Given the description of an element on the screen output the (x, y) to click on. 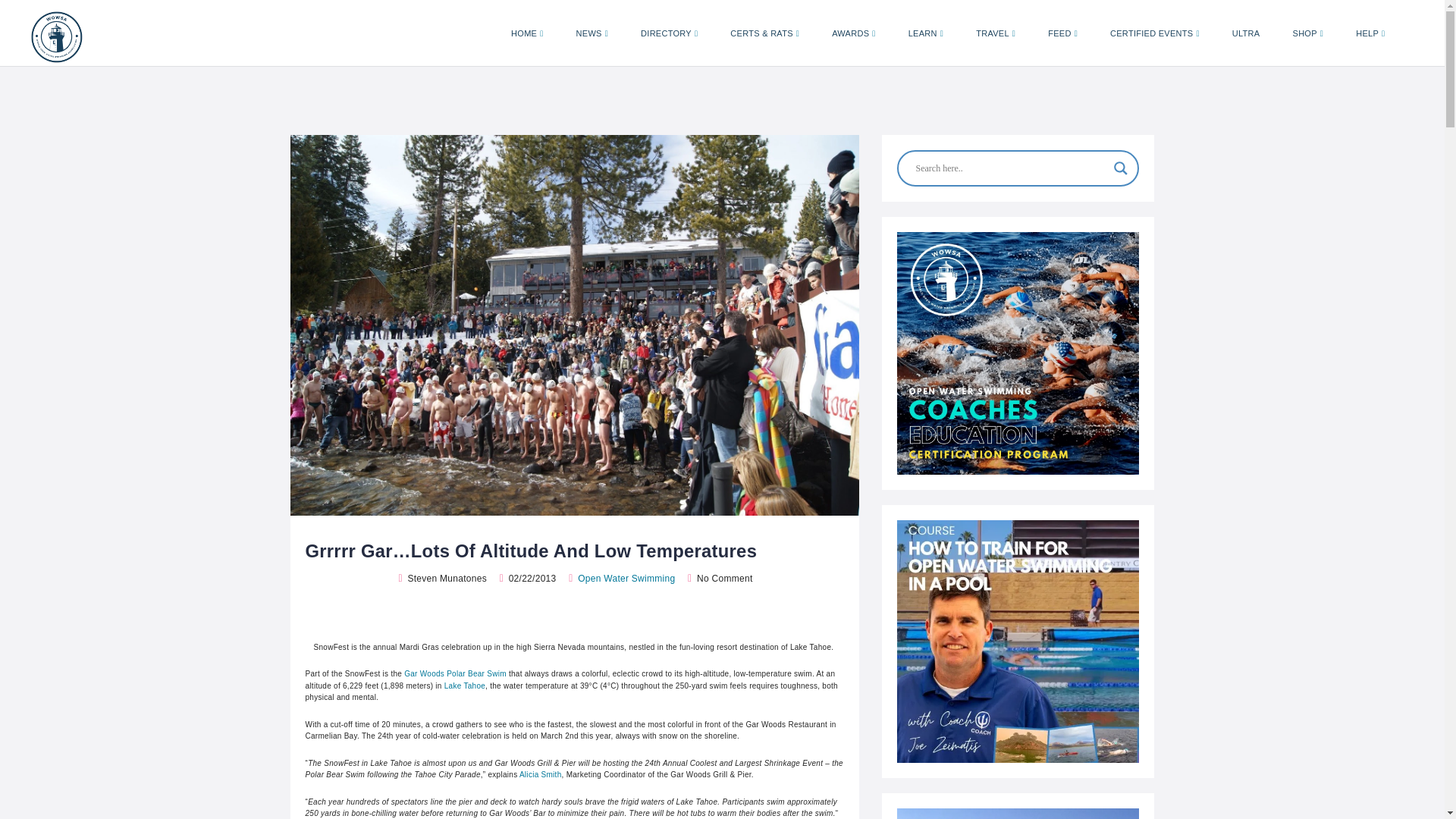
LEARN (925, 33)
HOME (526, 33)
DIRECTORY (669, 33)
AWARDS (852, 33)
NEWS (591, 33)
